Given the description of an element on the screen output the (x, y) to click on. 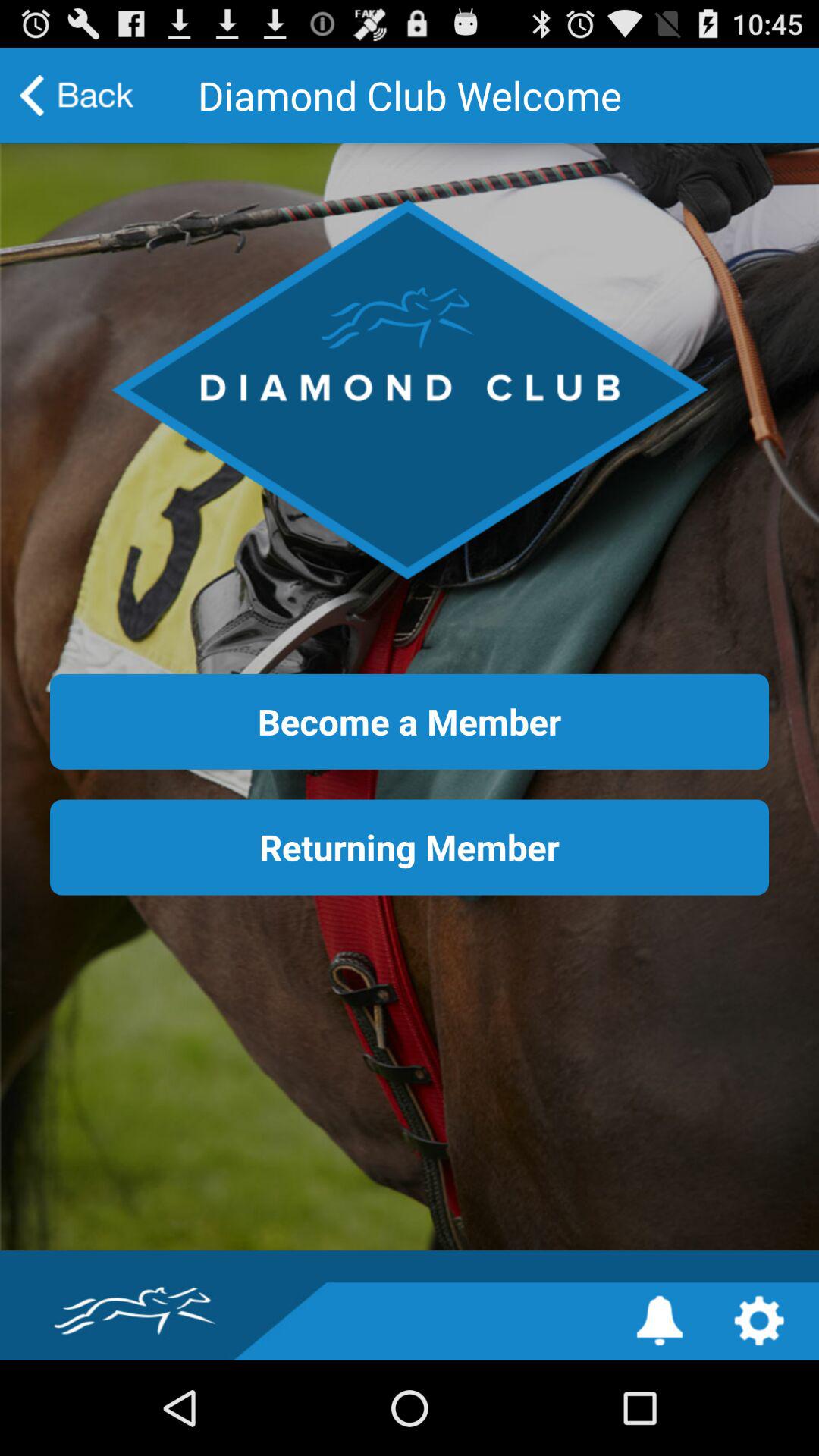
notifications (659, 1320)
